Given the description of an element on the screen output the (x, y) to click on. 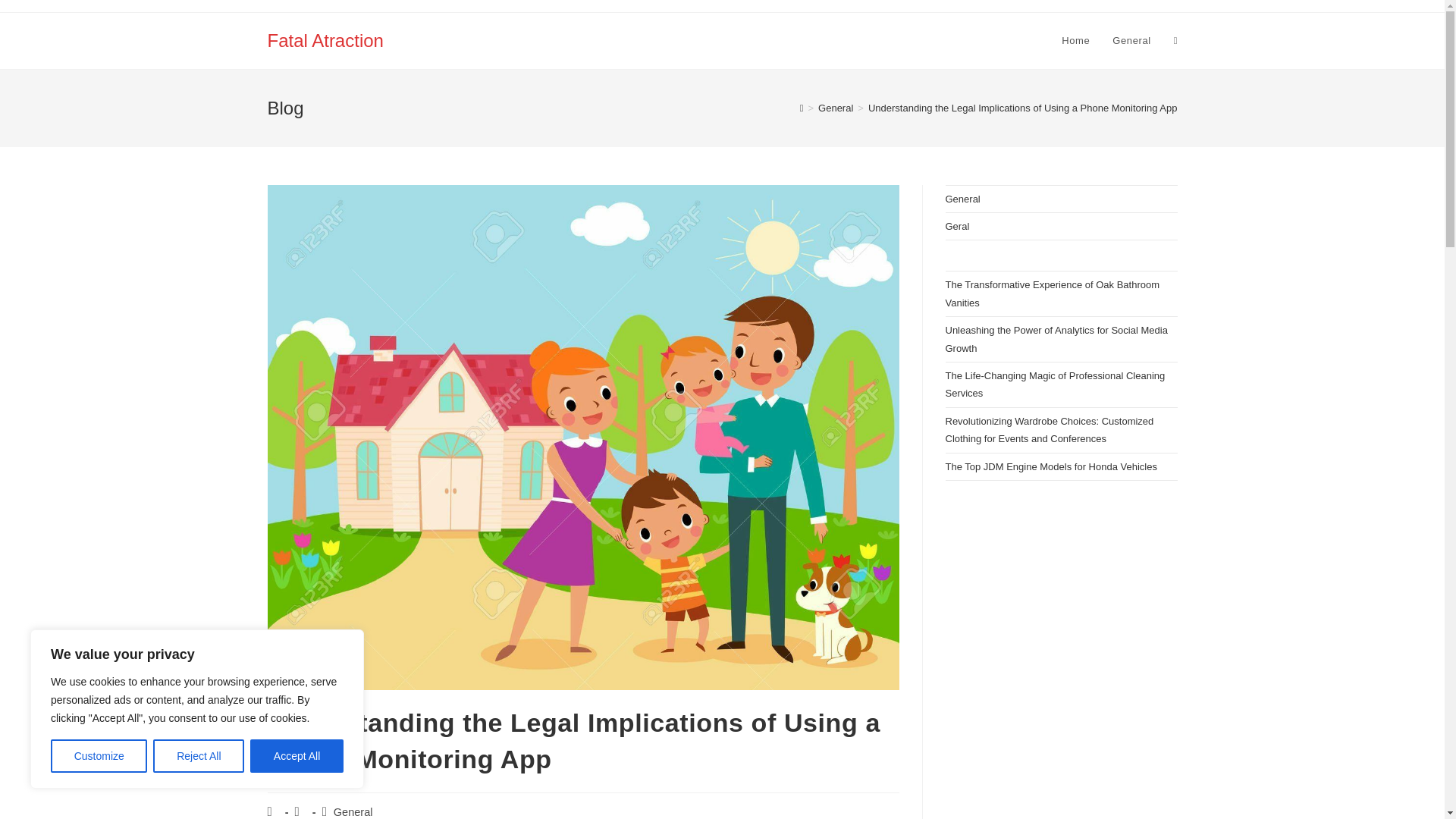
General (835, 107)
Accept All (296, 756)
Home (1074, 40)
Customize (98, 756)
Reject All (198, 756)
General (352, 811)
General (1130, 40)
Fatal Atraction (324, 40)
